Given the description of an element on the screen output the (x, y) to click on. 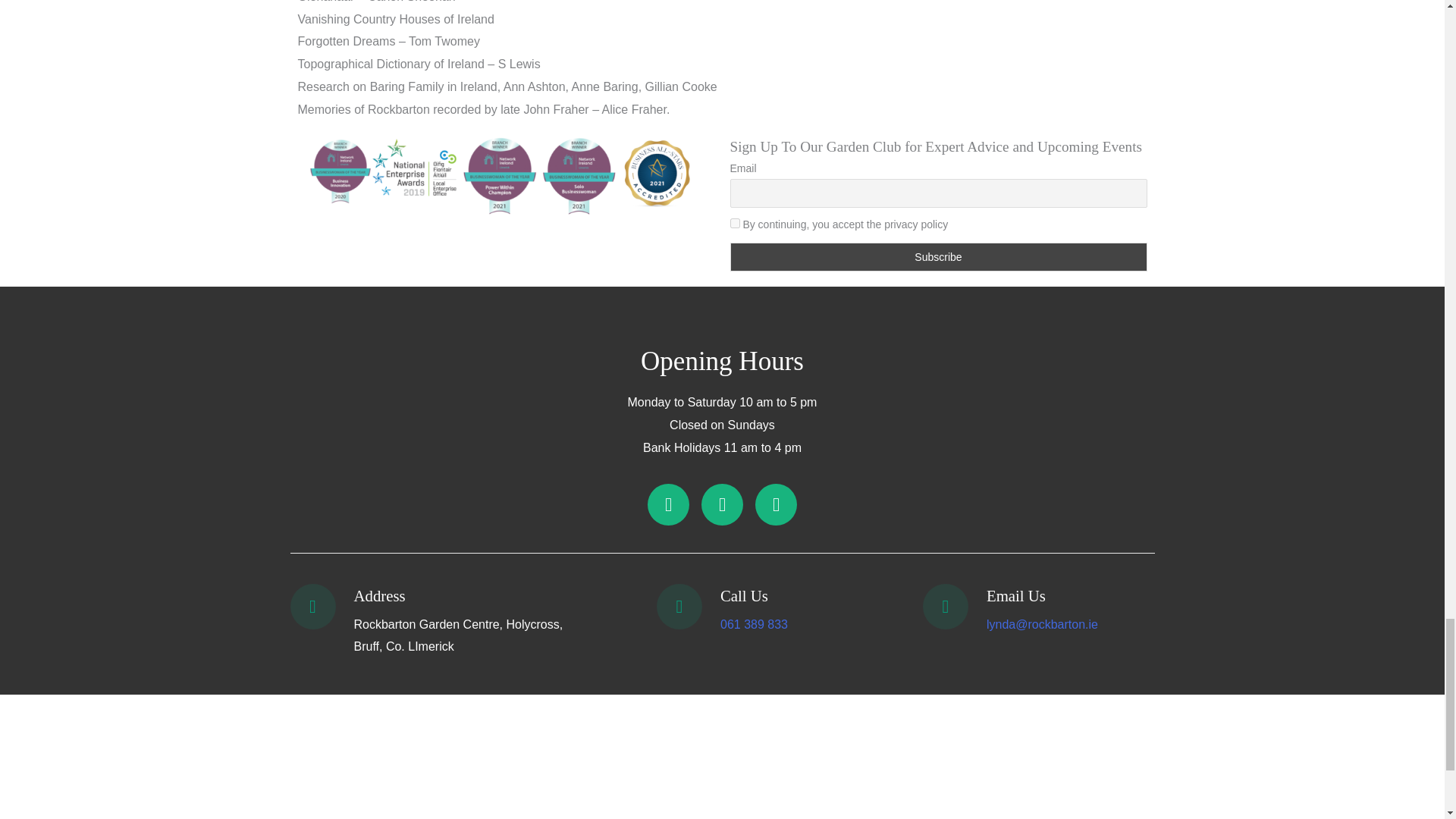
on (734, 223)
061 389 833 (753, 624)
Subscribe (938, 256)
Subscribe (938, 256)
Call Us (744, 595)
Email Us (1016, 595)
